Given the description of an element on the screen output the (x, y) to click on. 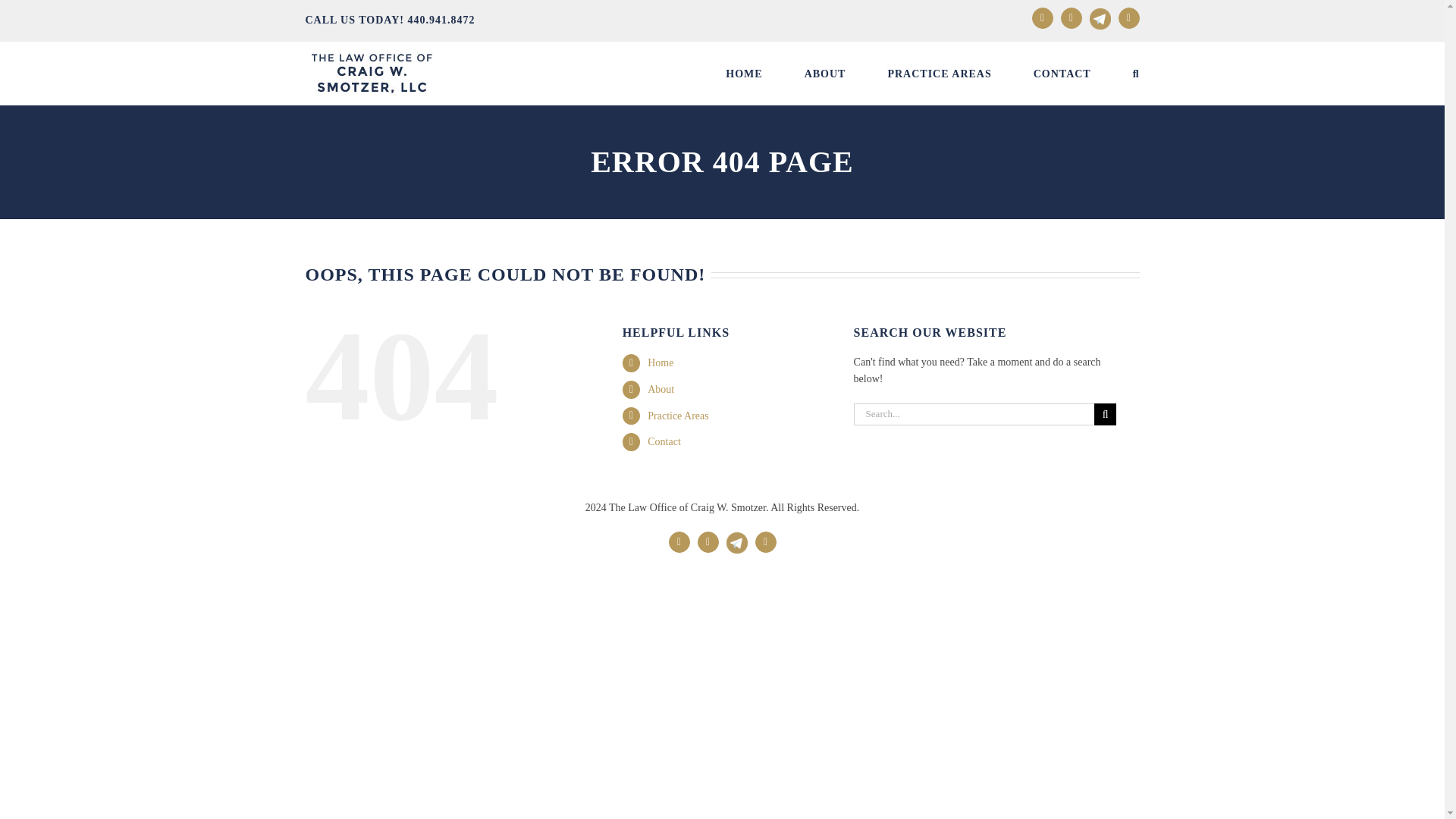
Search (1136, 73)
CONTACT (1061, 73)
About (660, 389)
Telegram (737, 534)
facebook (1042, 17)
linkedin (708, 541)
Home (659, 362)
tumblr (765, 541)
facebook (1042, 17)
tumblr (765, 541)
PRACTICE AREAS (938, 73)
ABOUT (825, 73)
tumblr (1129, 17)
Telegram (1099, 18)
facebook (679, 541)
